Given the description of an element on the screen output the (x, y) to click on. 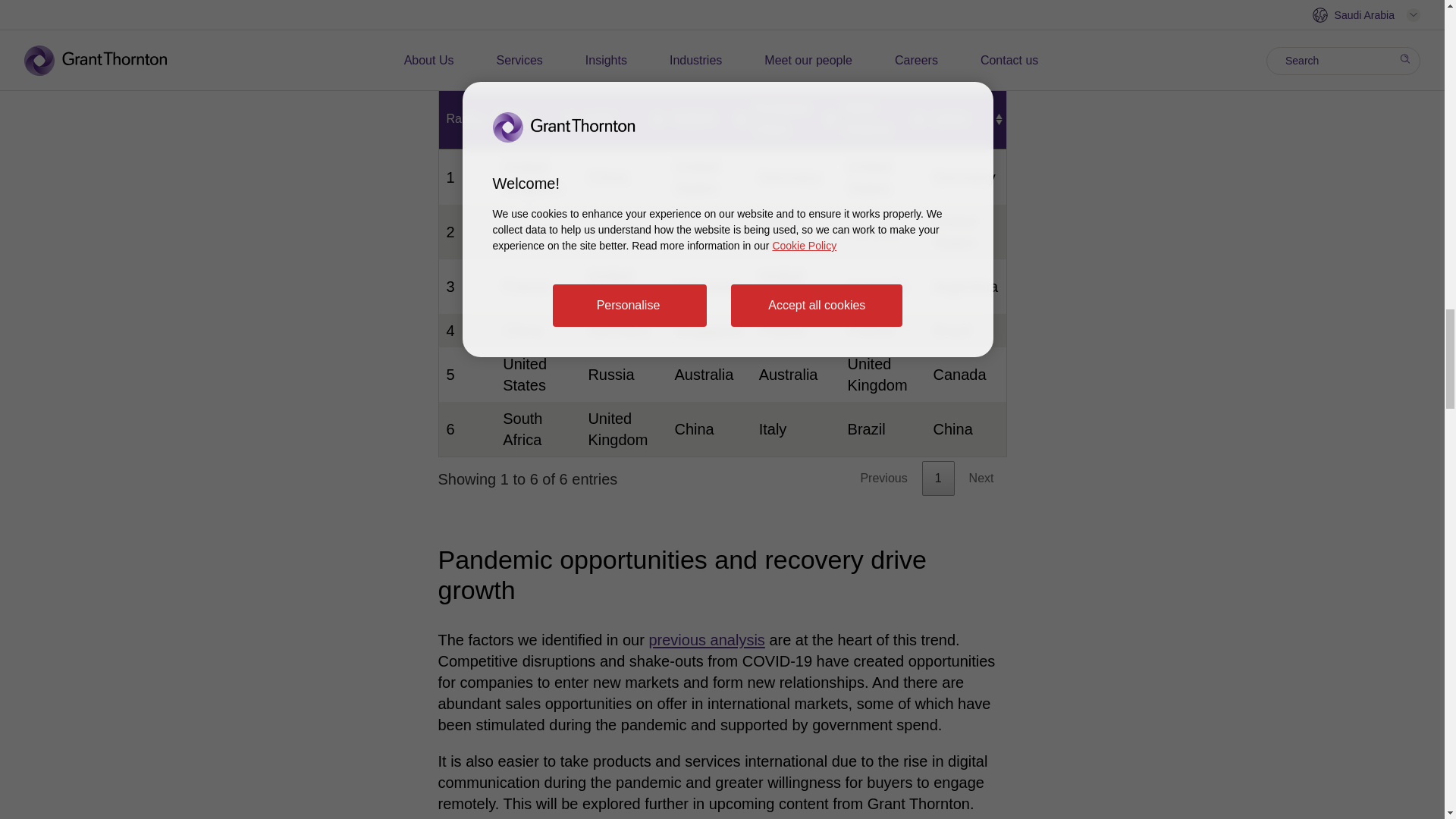
Rank Africa APAC ASEAN European Union North America Latam (722, 119)
Rank Africa APAC ASEAN European Union North America Latam (722, 119)
